Given the description of an element on the screen output the (x, y) to click on. 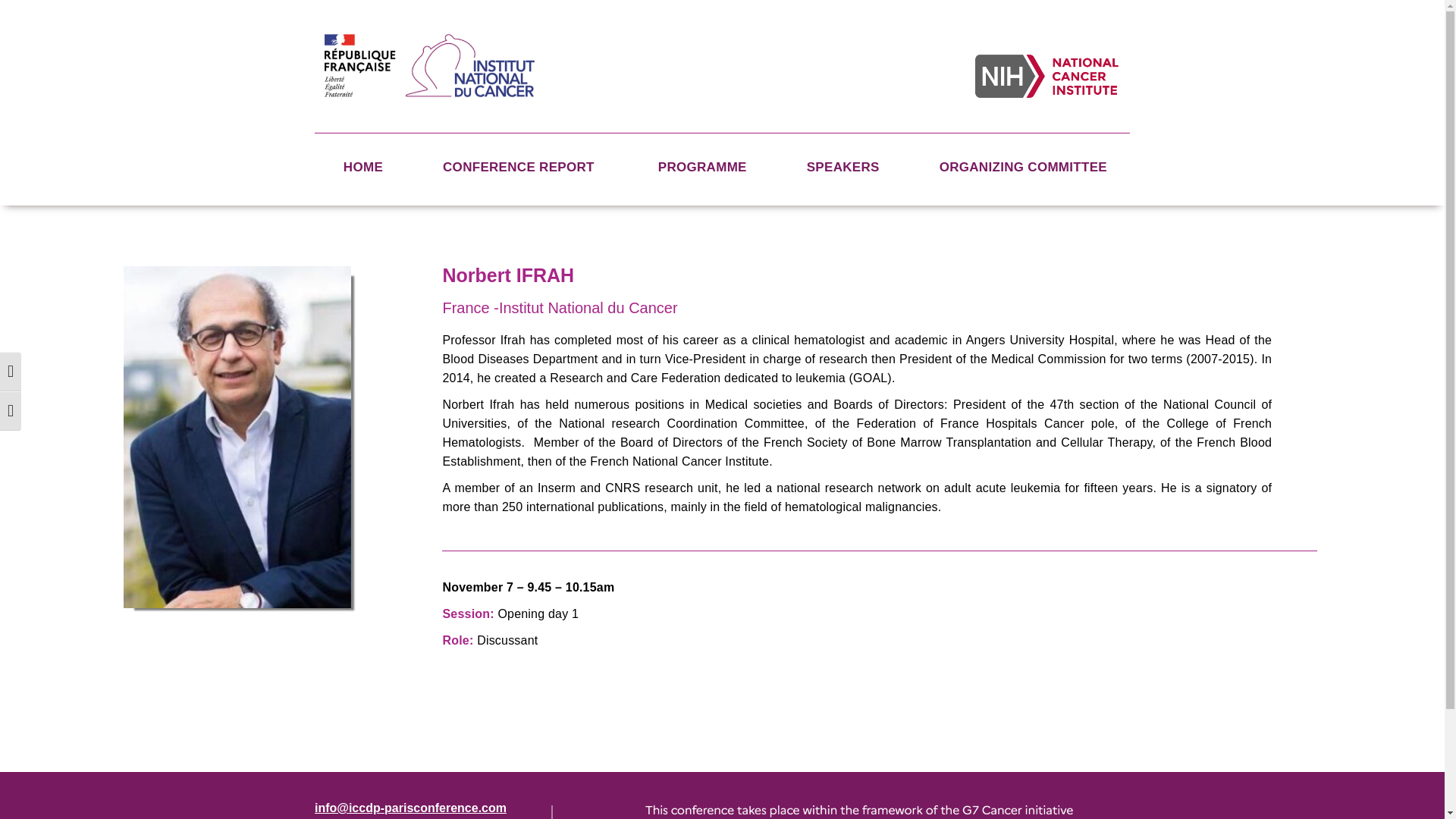
HOME (363, 167)
SPEAKERS (843, 167)
PROGRAMME (702, 167)
ORGANIZING COMMITTEE (1023, 167)
CONFERENCE REPORT  (520, 167)
